Given the description of an element on the screen output the (x, y) to click on. 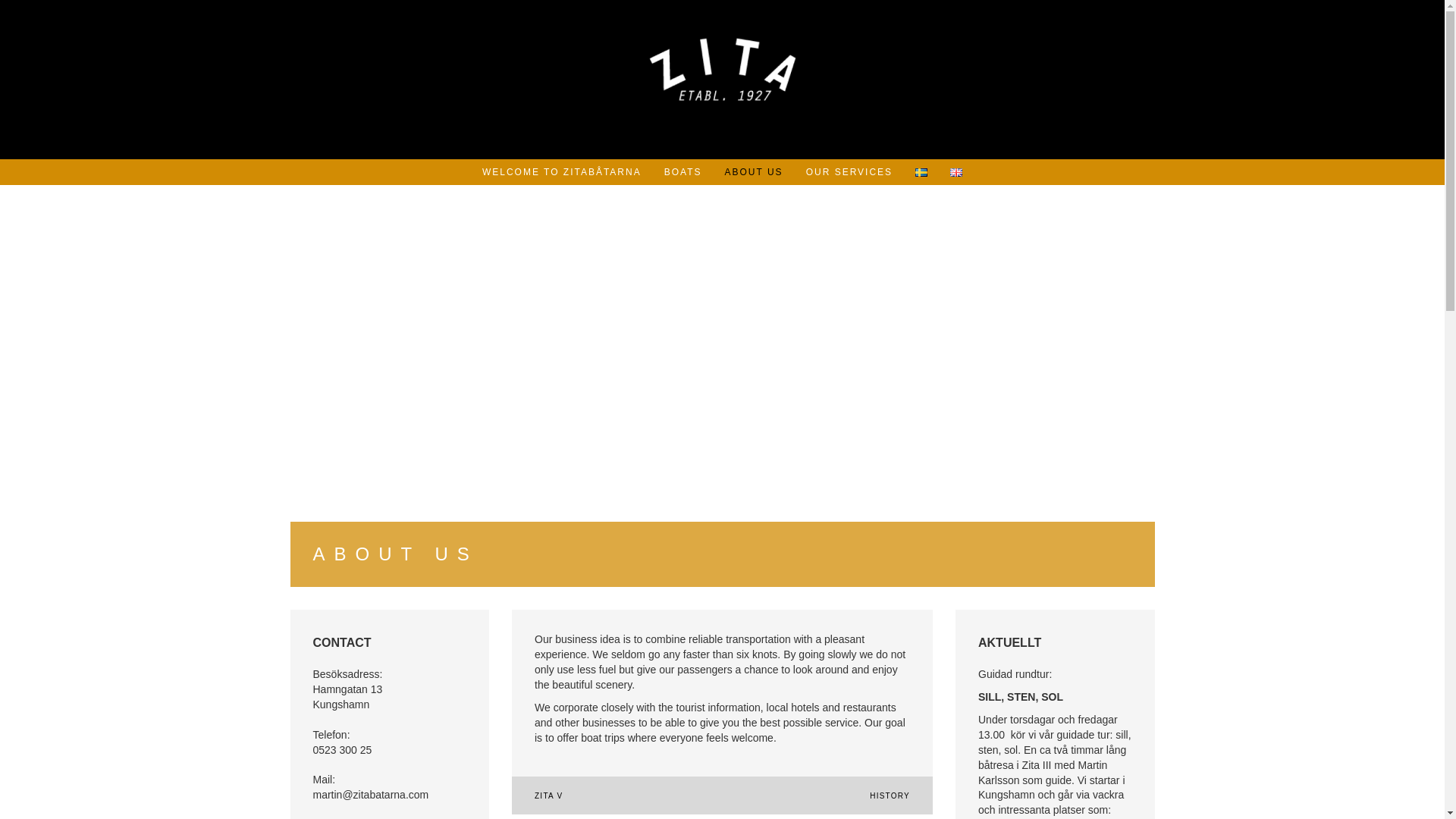
ABOUT US (754, 171)
Page 1 (1055, 743)
HISTORY (889, 795)
BOATS (682, 171)
English (956, 172)
ZITA V (548, 795)
Svenska (921, 172)
OUR SERVICES (849, 171)
